Given the description of an element on the screen output the (x, y) to click on. 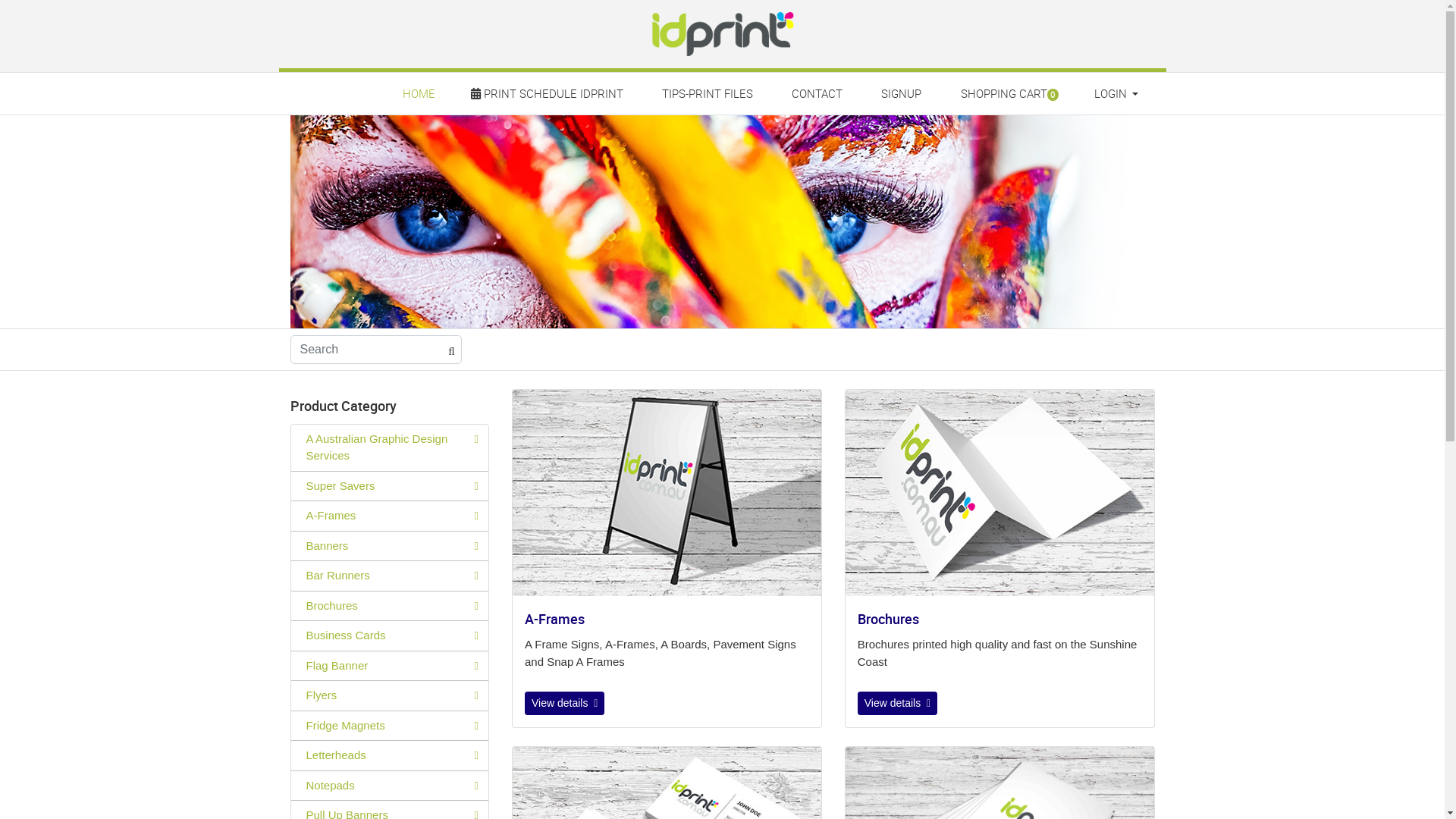
Business Cards Element type: text (390, 635)
TIPS-PRINT FILES Element type: text (706, 93)
Brochures Element type: text (390, 606)
Brochures Element type: hover (999, 492)
Super Savers Element type: text (390, 486)
HOME Element type: text (418, 93)
Flyers Element type: text (390, 695)
Flag Banner Element type: text (390, 665)
Bar Runners Element type: text (390, 575)
PRINT SCHEDULE IDPRINT Element type: text (548, 93)
Fridge Magnets Element type: text (390, 725)
CONTACT Element type: text (817, 93)
Banners Element type: text (390, 546)
View details Element type: text (564, 703)
SIGNUP Element type: text (901, 93)
A Australian Graphic Design Services Element type: text (390, 447)
Idprint Commercial printer Sunshine Coast Element type: hover (721, 221)
A-Frames Element type: hover (666, 492)
LOGIN Element type: text (1114, 93)
<i class='fal fa-unlock pr-1'></i> Login Element type: text (1114, 126)
Letterheads Element type: text (390, 755)
A-Frames Element type: text (390, 515)
View details Element type: text (897, 703)
SHOPPING CART0 Element type: text (1007, 93)
Notepads Element type: text (390, 785)
